Given the description of an element on the screen output the (x, y) to click on. 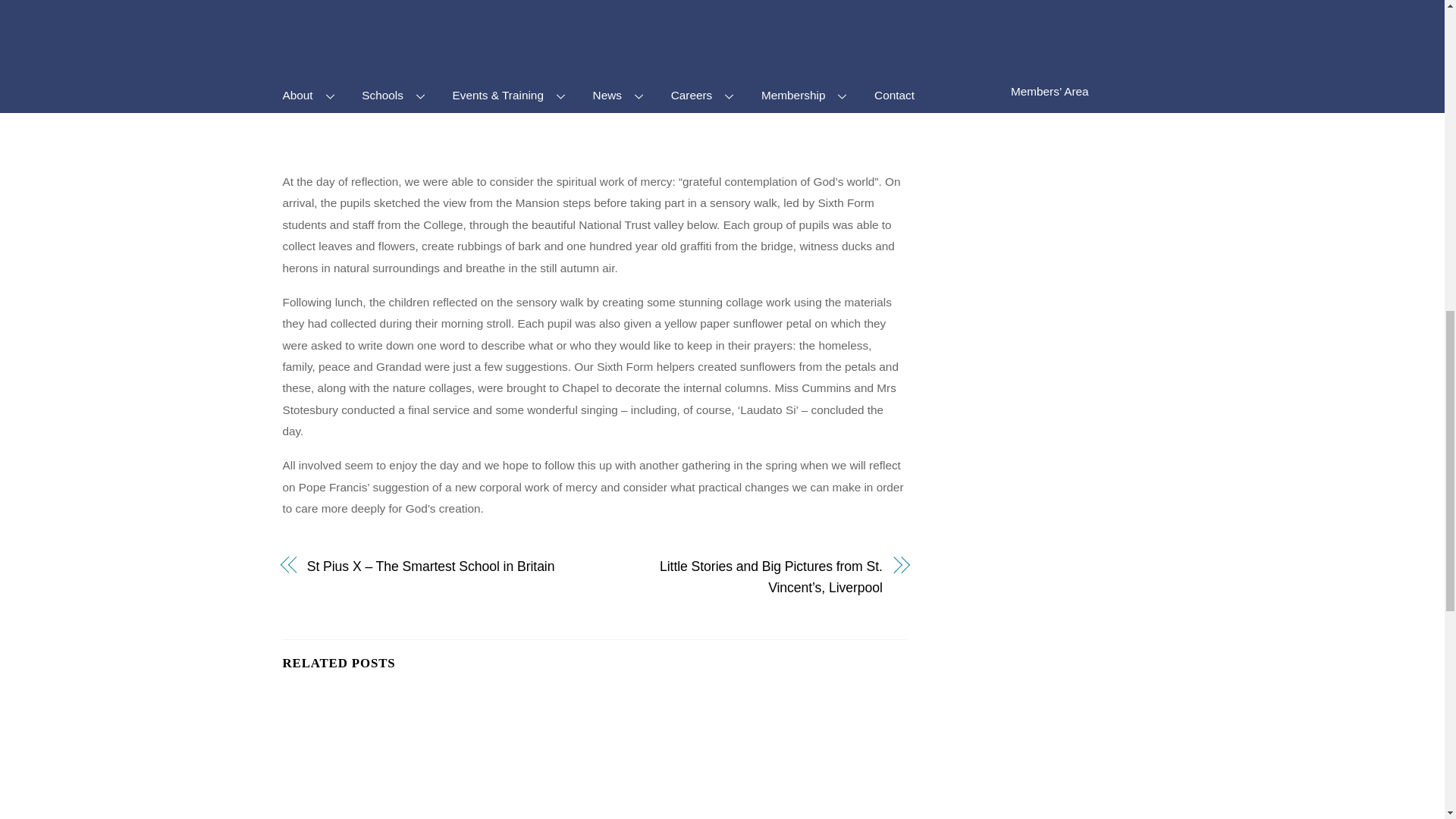
June-Newsletter (807, 755)
Oscar Romero Award 2 (595, 755)
Thornton-College-2 (381, 755)
